Given the description of an element on the screen output the (x, y) to click on. 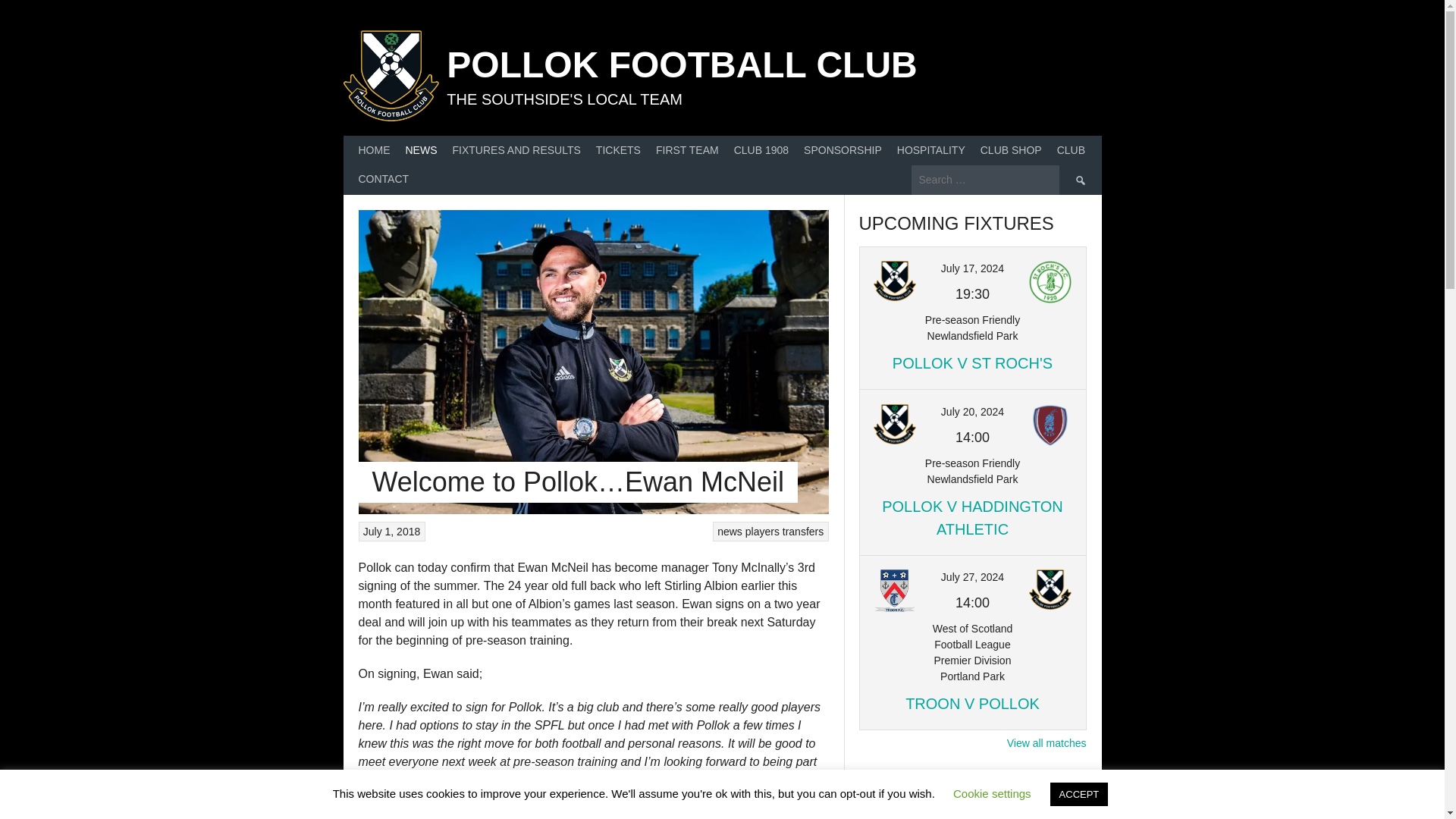
NEWS (420, 150)
14:00 (972, 437)
Pollok (894, 282)
July 1, 2018 (391, 531)
Haddington Athletic (1050, 425)
transfers (803, 531)
Pollok (1050, 590)
HOME (373, 150)
CONTACT (383, 179)
CLUB SHOP (1010, 150)
CLUB (1071, 150)
FIXTURES AND RESULTS (516, 150)
Troon (894, 590)
July 17, 2024 (972, 268)
July 20, 2024 (972, 411)
